Given the description of an element on the screen output the (x, y) to click on. 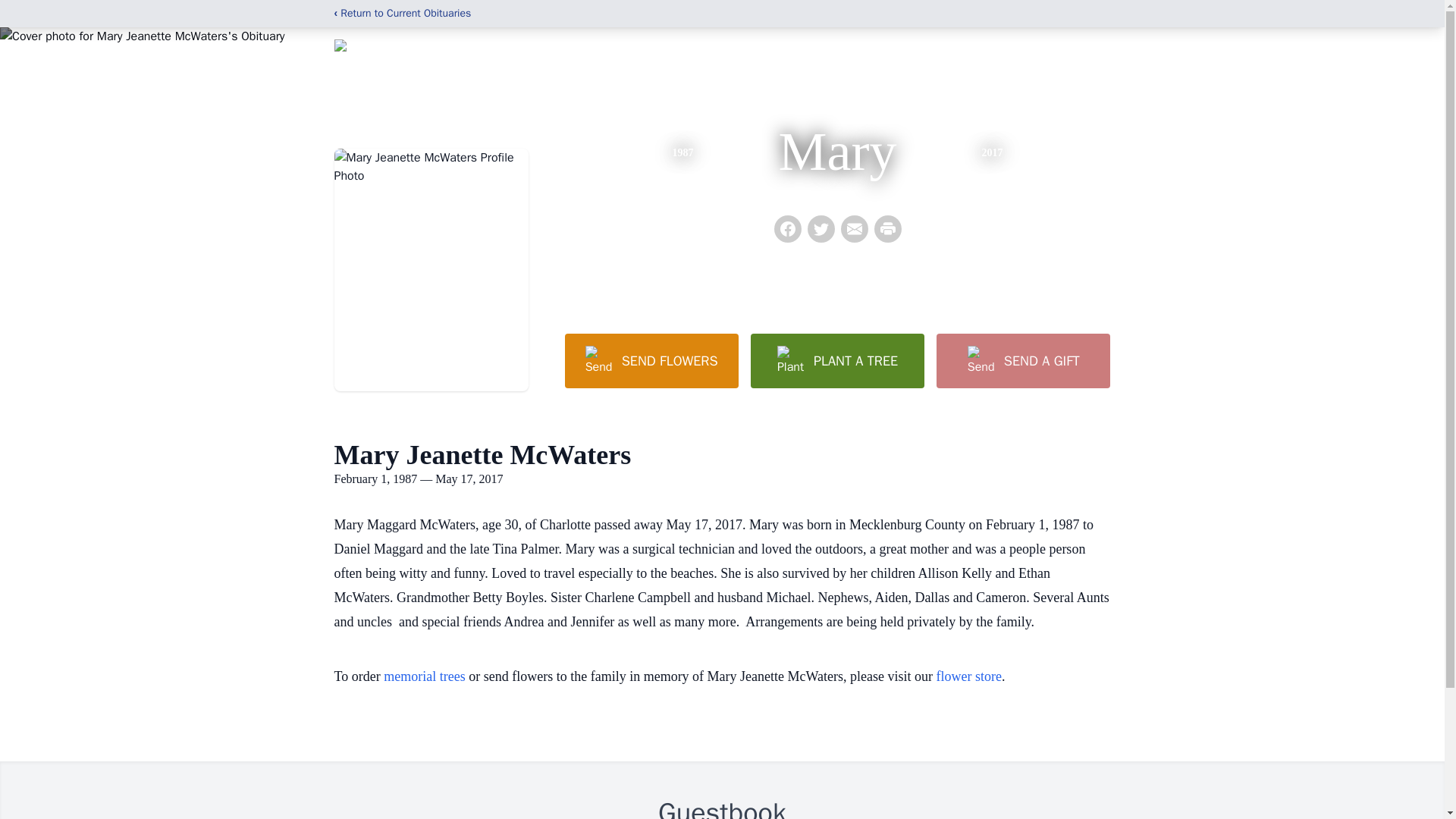
PLANT A TREE (837, 360)
SEND A GIFT (1022, 360)
memorial trees (424, 676)
SEND FLOWERS (651, 360)
flower store (968, 676)
